Given the description of an element on the screen output the (x, y) to click on. 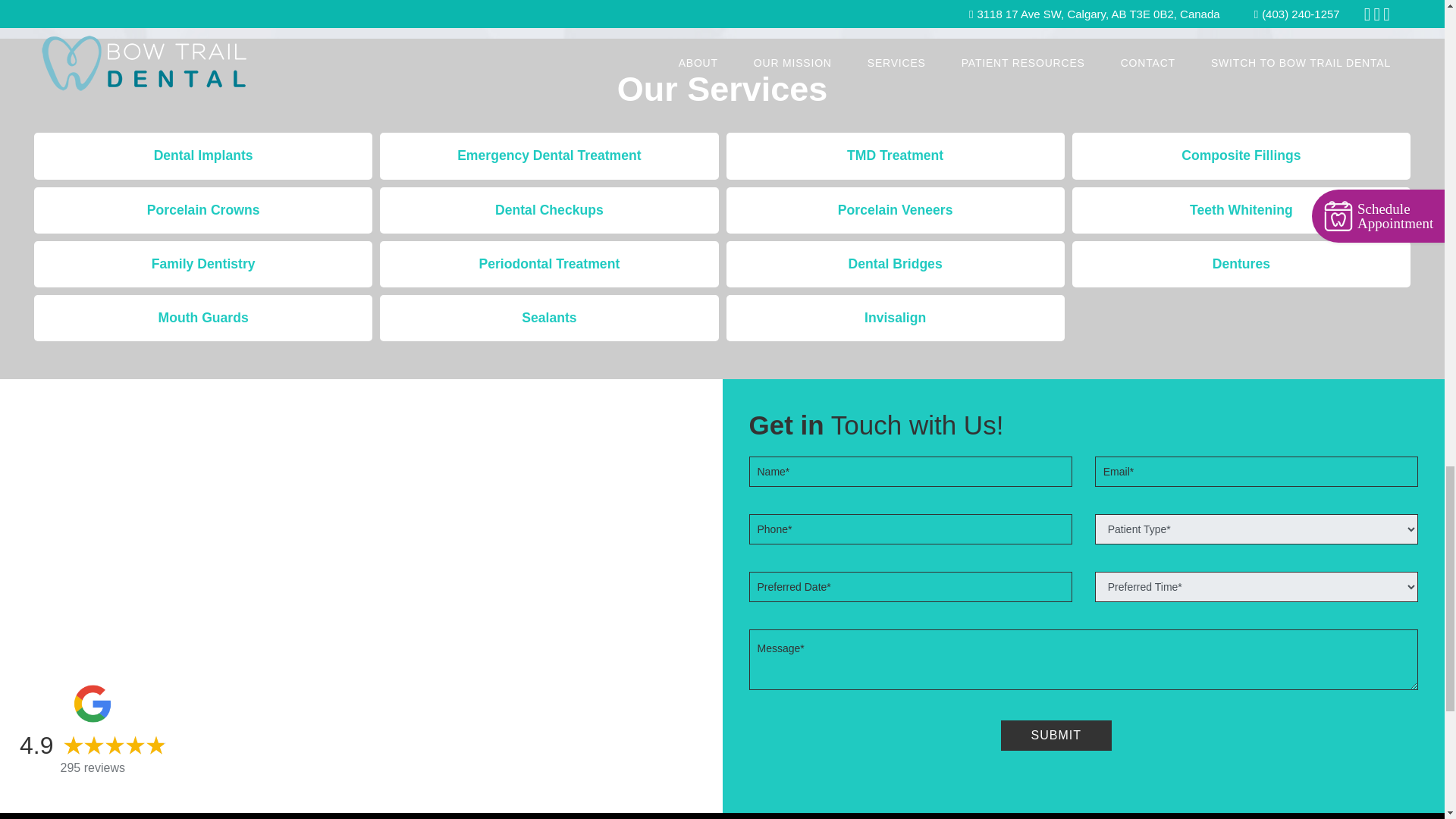
Submit (1056, 735)
